Given the description of an element on the screen output the (x, y) to click on. 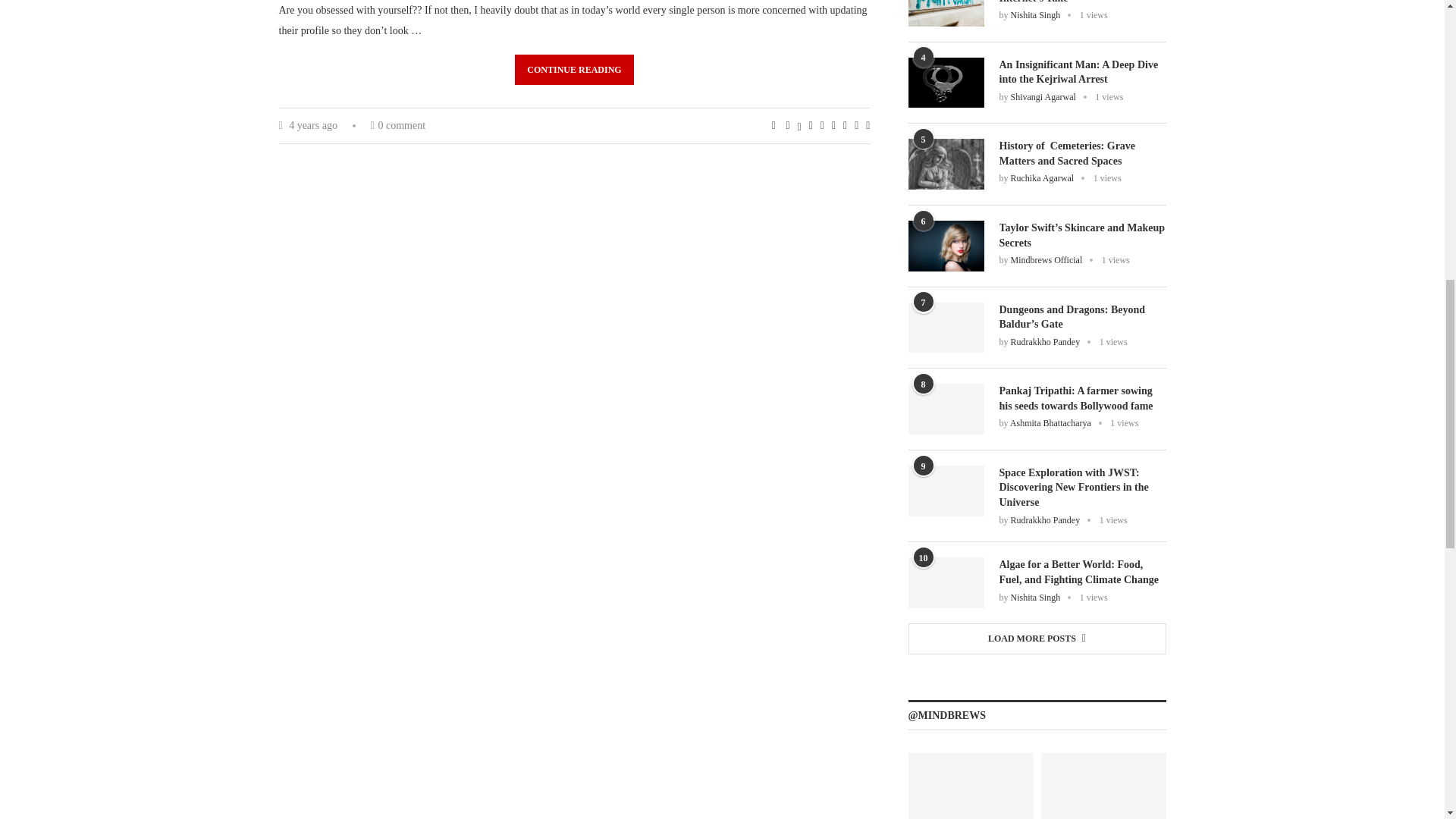
An Insignificant Man: A Deep Dive into the Kejriwal Arrest (946, 82)
